Given the description of an element on the screen output the (x, y) to click on. 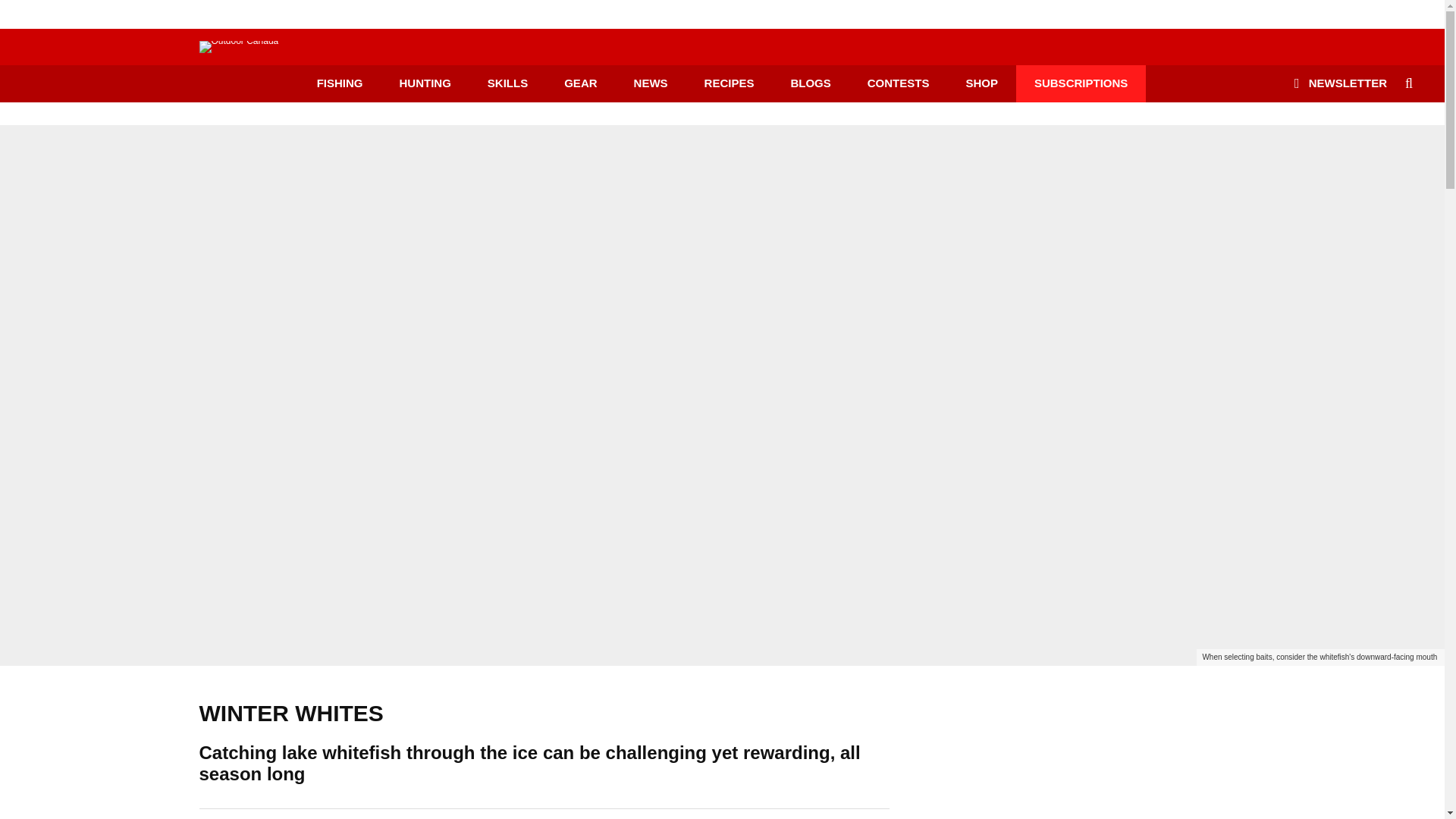
CONTESTS (897, 83)
GEAR (580, 83)
NEWS (650, 83)
BLOGS (809, 83)
SKILLS (507, 83)
FISHING (339, 83)
HUNTING (424, 83)
RECIPES (729, 83)
